Given the description of an element on the screen output the (x, y) to click on. 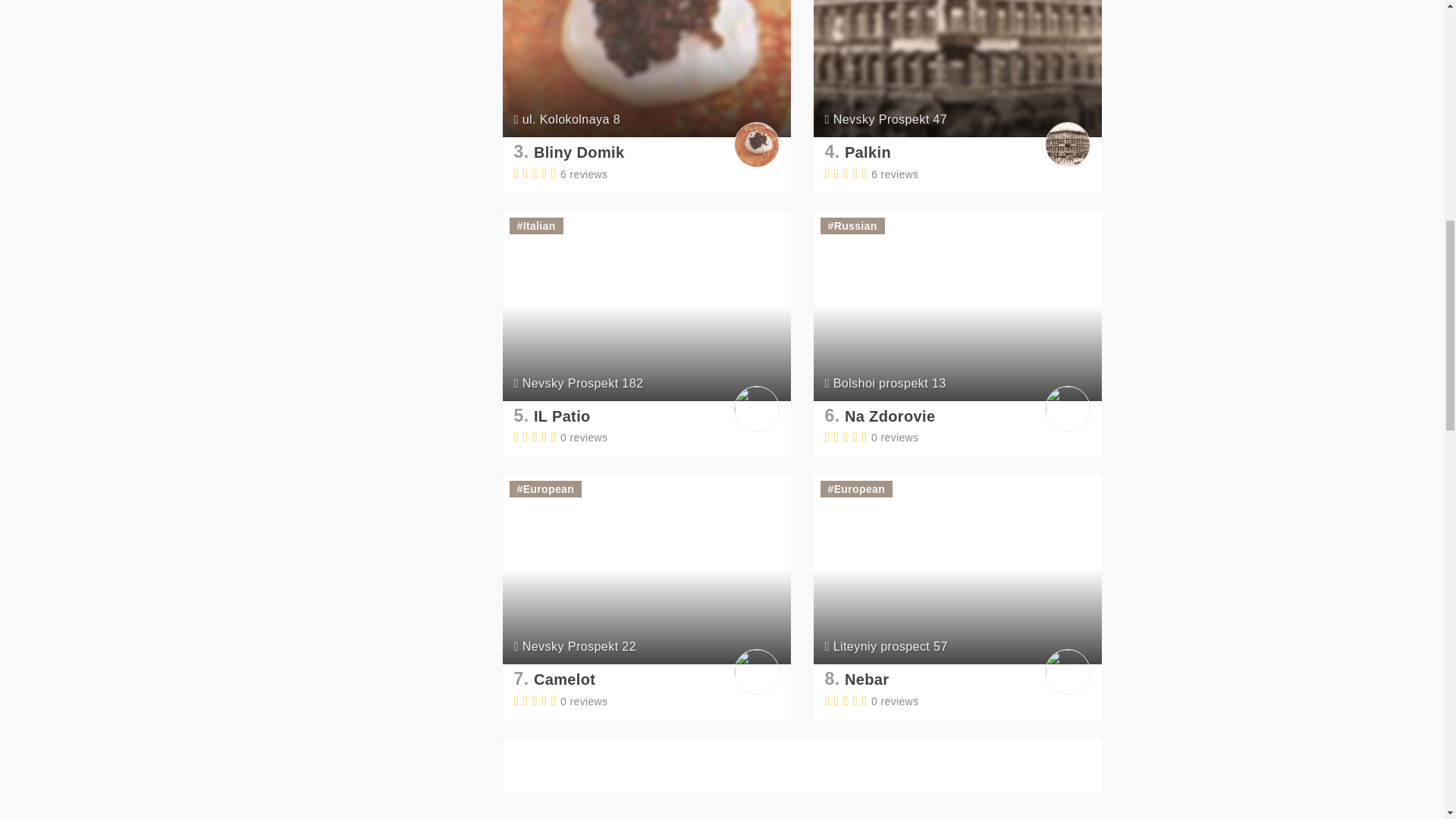
Na Zdorovie (890, 416)
European (547, 489)
Camelot (564, 678)
Bliny Domik (579, 152)
Italian (539, 225)
IL Patio (562, 416)
Palkin (867, 152)
Russian (855, 225)
